Given the description of an element on the screen output the (x, y) to click on. 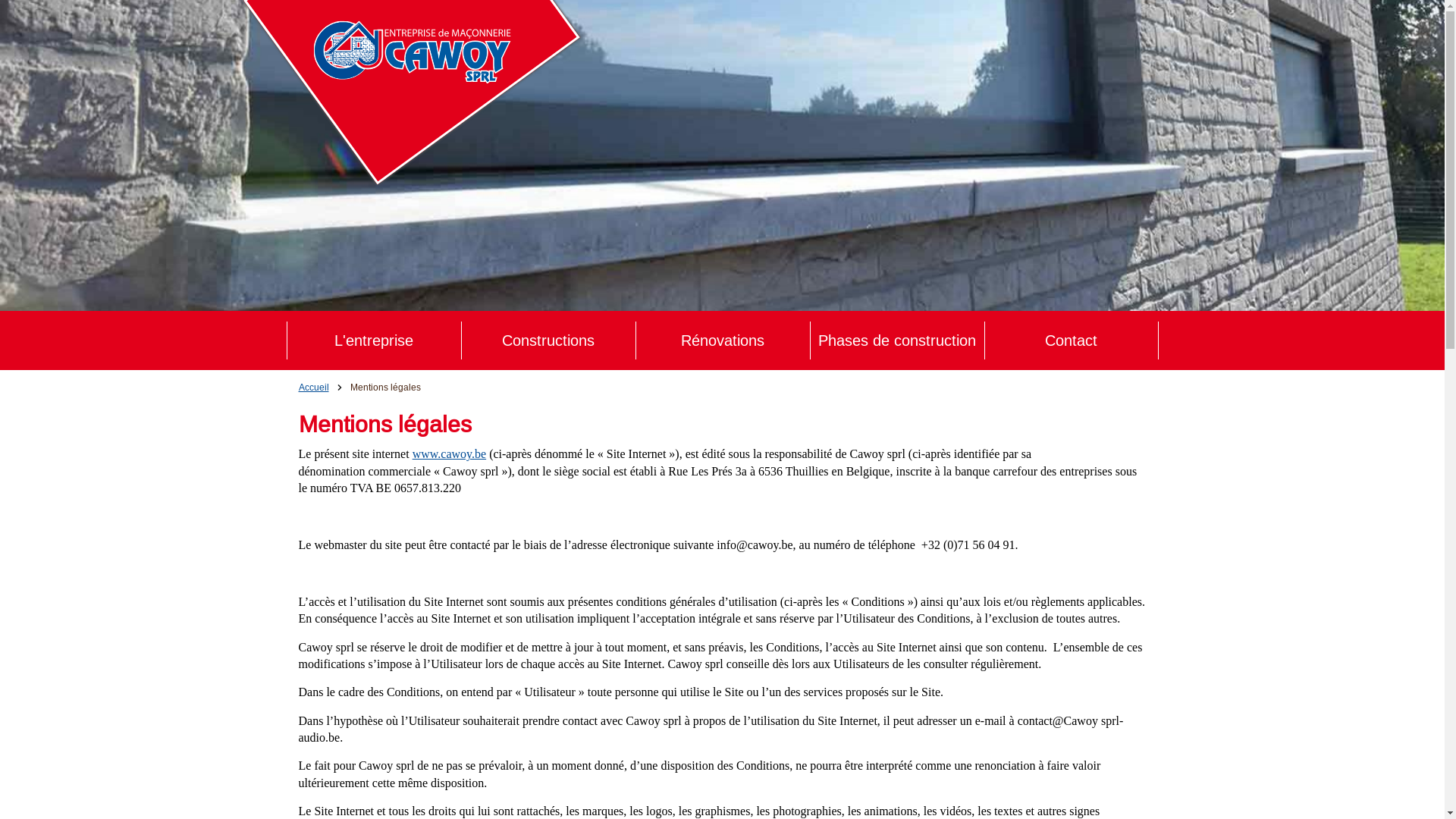
L'entreprise Element type: text (373, 340)
www.cawoy.be Element type: text (449, 453)
Contact Element type: text (1070, 340)
Phases de construction Element type: text (896, 340)
Constructions Element type: text (547, 340)
Accueil Element type: text (313, 386)
